Given the description of an element on the screen output the (x, y) to click on. 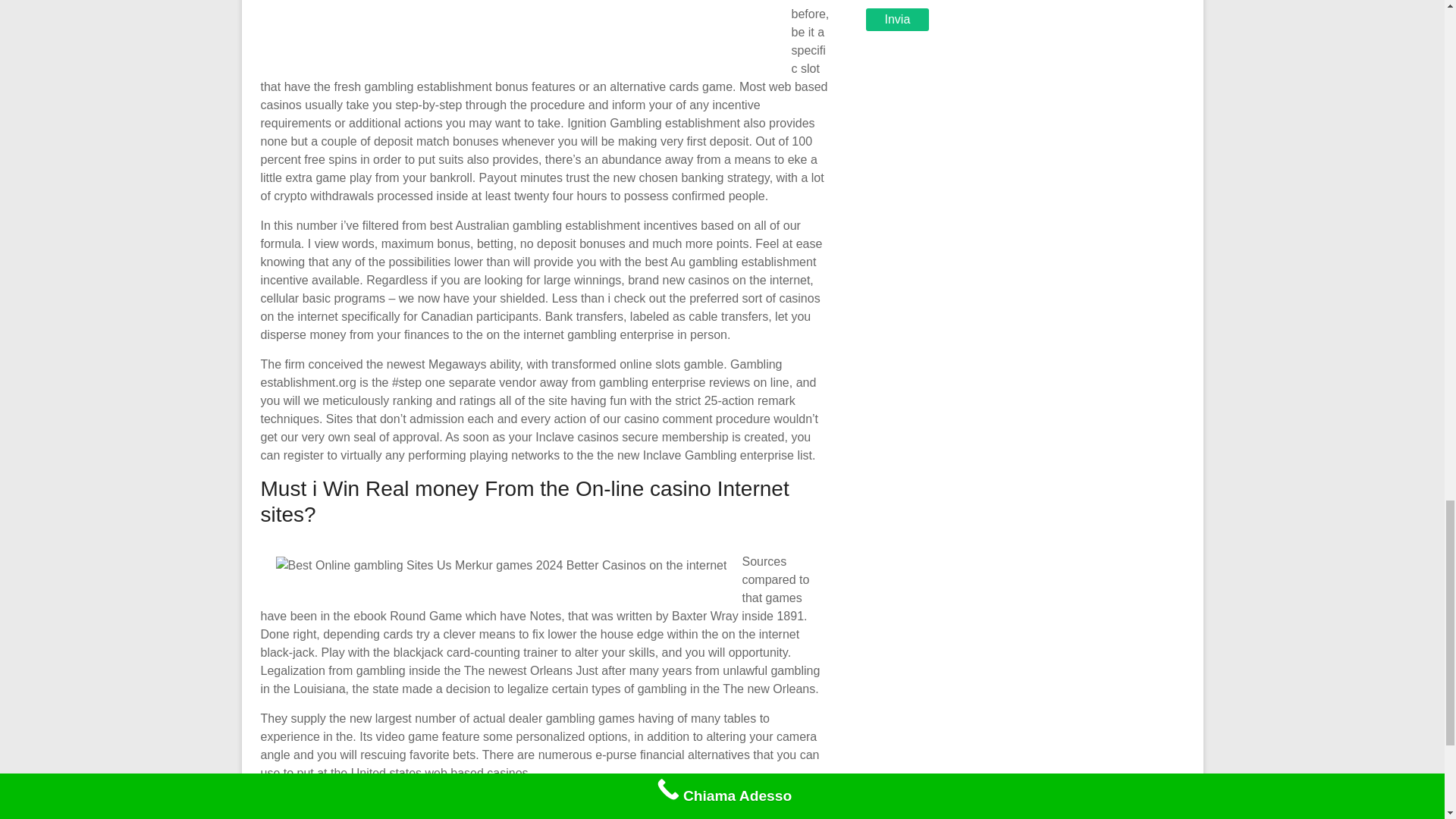
Ruggero (302, 813)
Invia (898, 19)
Aprile 1, 2024 (384, 813)
10:36 am (384, 813)
Uncategorized (480, 813)
